Given the description of an element on the screen output the (x, y) to click on. 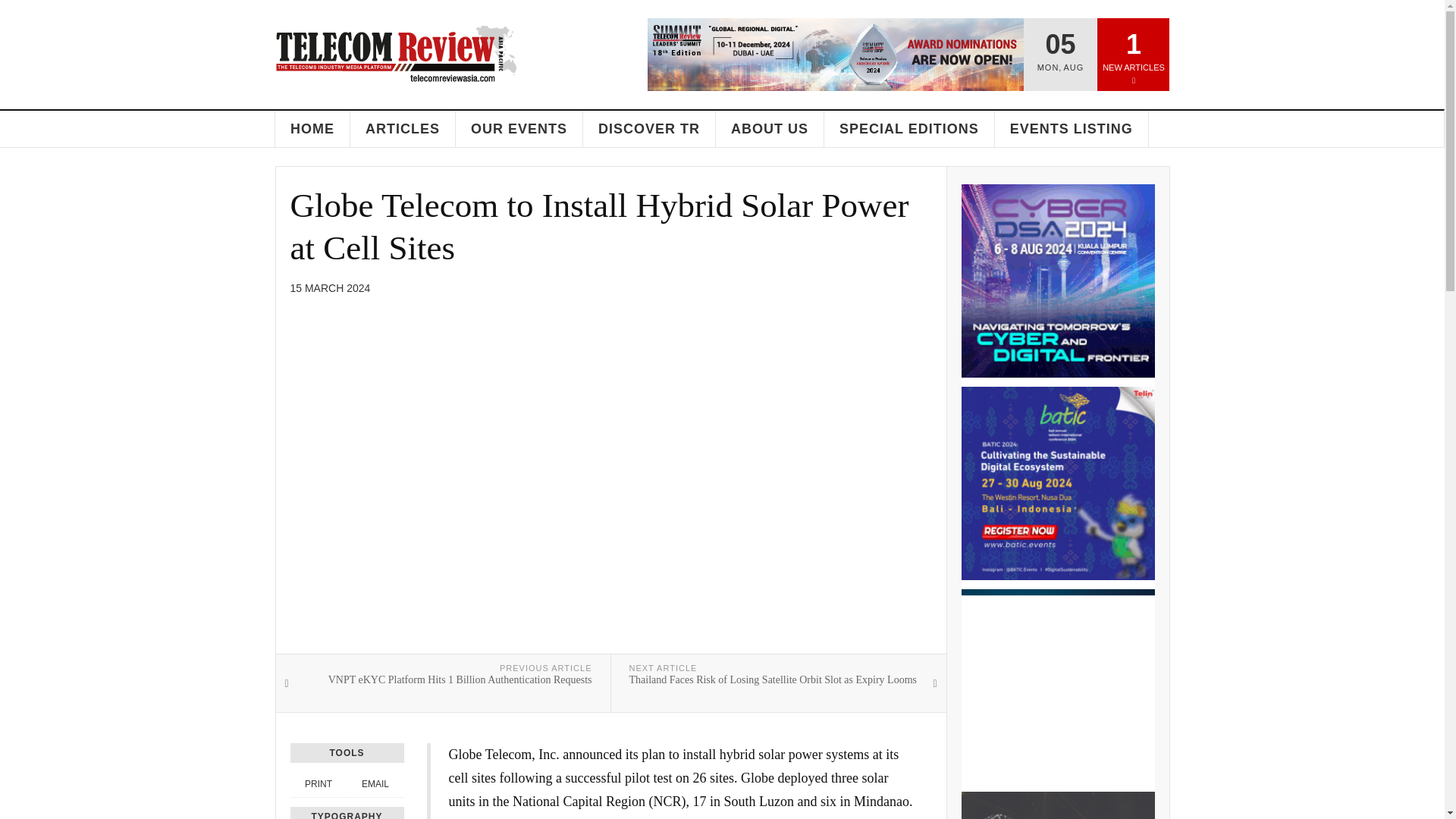
08-2024 BATIC WB (1057, 482)
08-2024 ACC 2024 WB (1057, 685)
Email (374, 783)
Print (317, 783)
08-2024 TRS Awards Top WB (835, 54)
Telecom Review (397, 54)
Globe Telecom to Install Hybrid Solar Power at Cell Sites (598, 226)
HOME (312, 128)
08-2024 CyberDSA WB (1057, 280)
Published:  (329, 288)
